Given the description of an element on the screen output the (x, y) to click on. 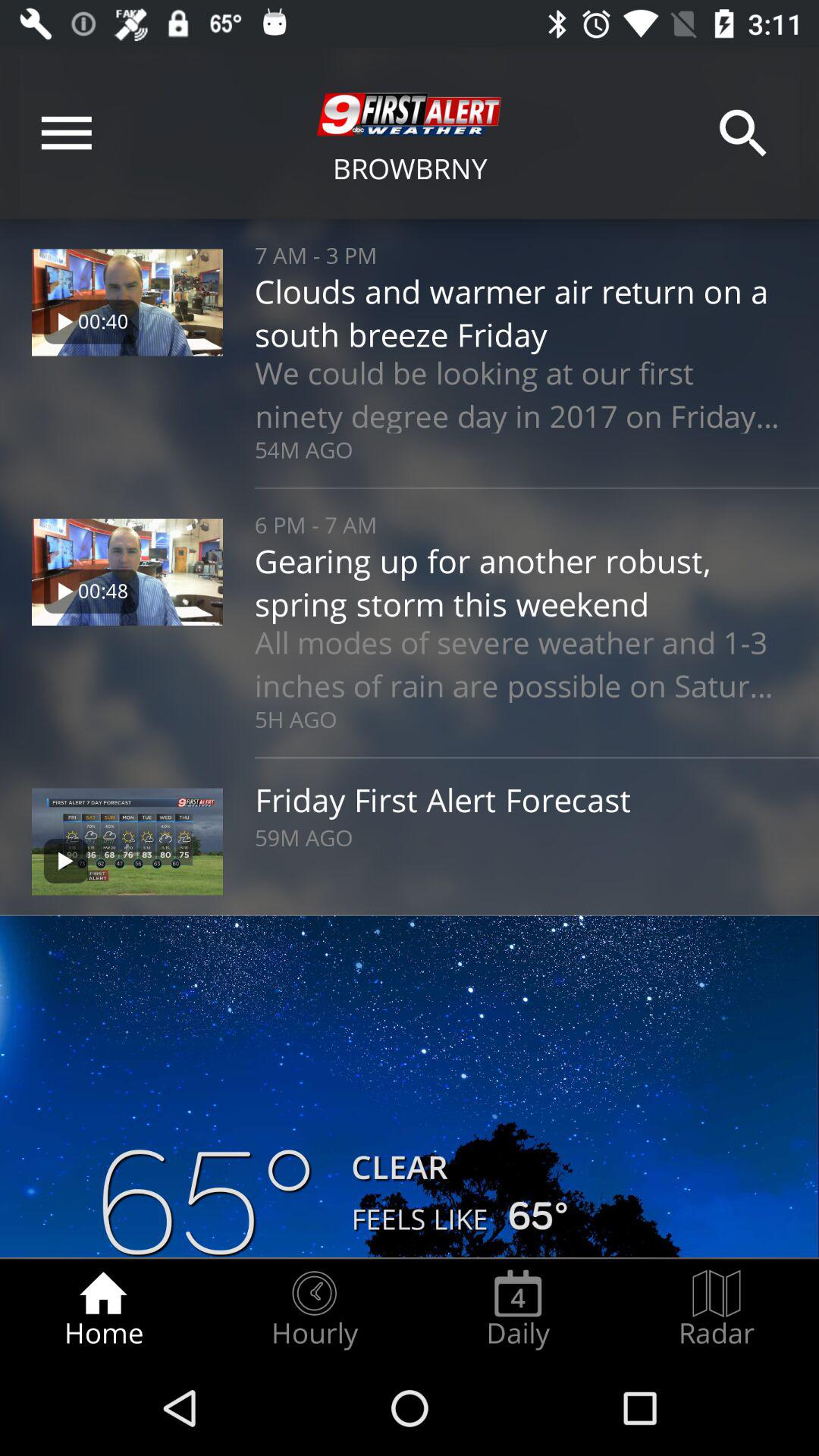
swipe to the radar icon (716, 1309)
